Given the description of an element on the screen output the (x, y) to click on. 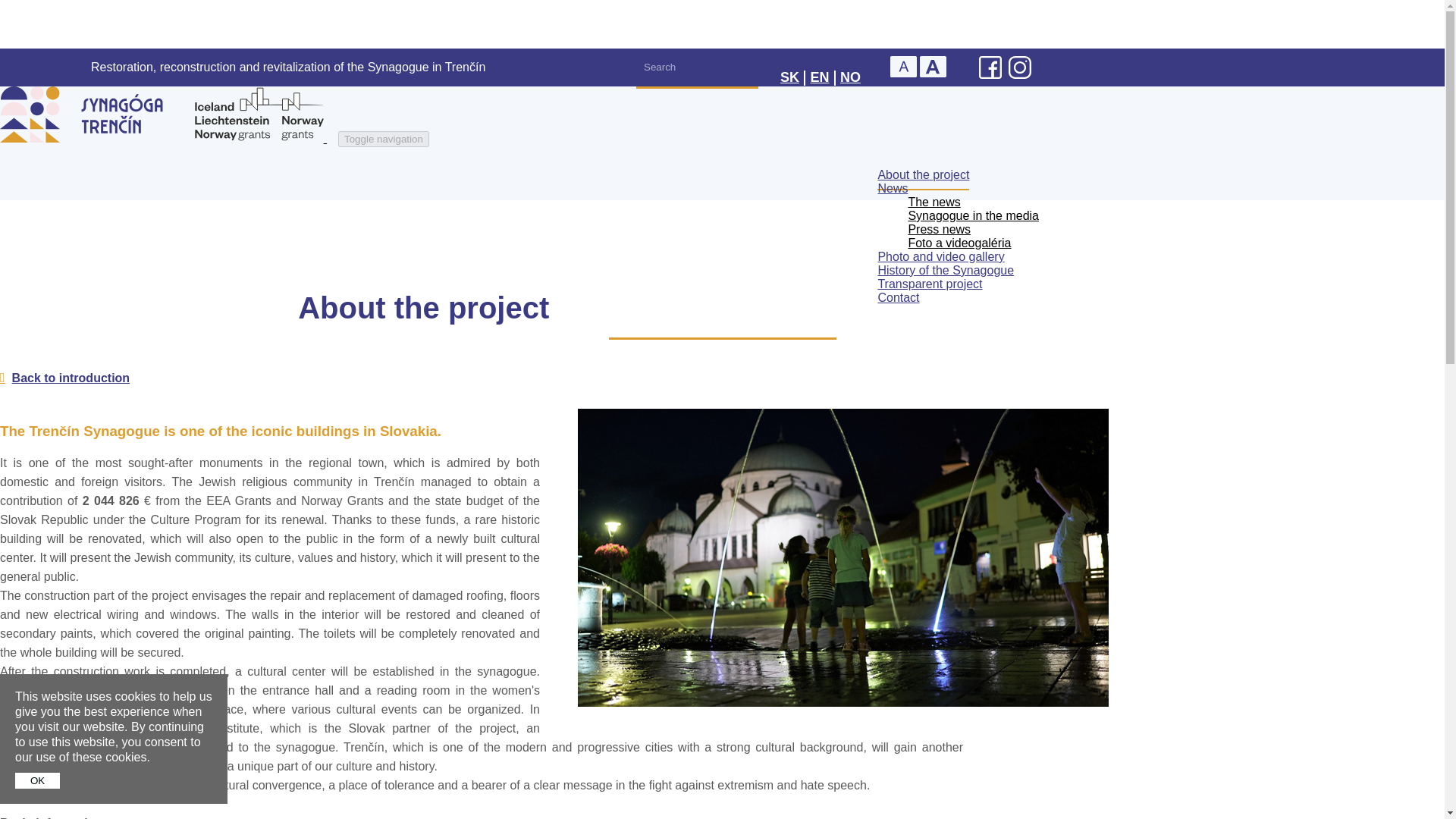
EN (819, 76)
Home (168, 137)
Transparent project (929, 284)
A (933, 67)
Photo and video gallery (940, 256)
OK (36, 780)
News (892, 188)
Synagogue in the media (973, 215)
Novinky (933, 201)
NO (849, 76)
SK (789, 76)
Back to introduction (64, 377)
History of the Synagogue (945, 270)
About the project (923, 175)
